Given the description of an element on the screen output the (x, y) to click on. 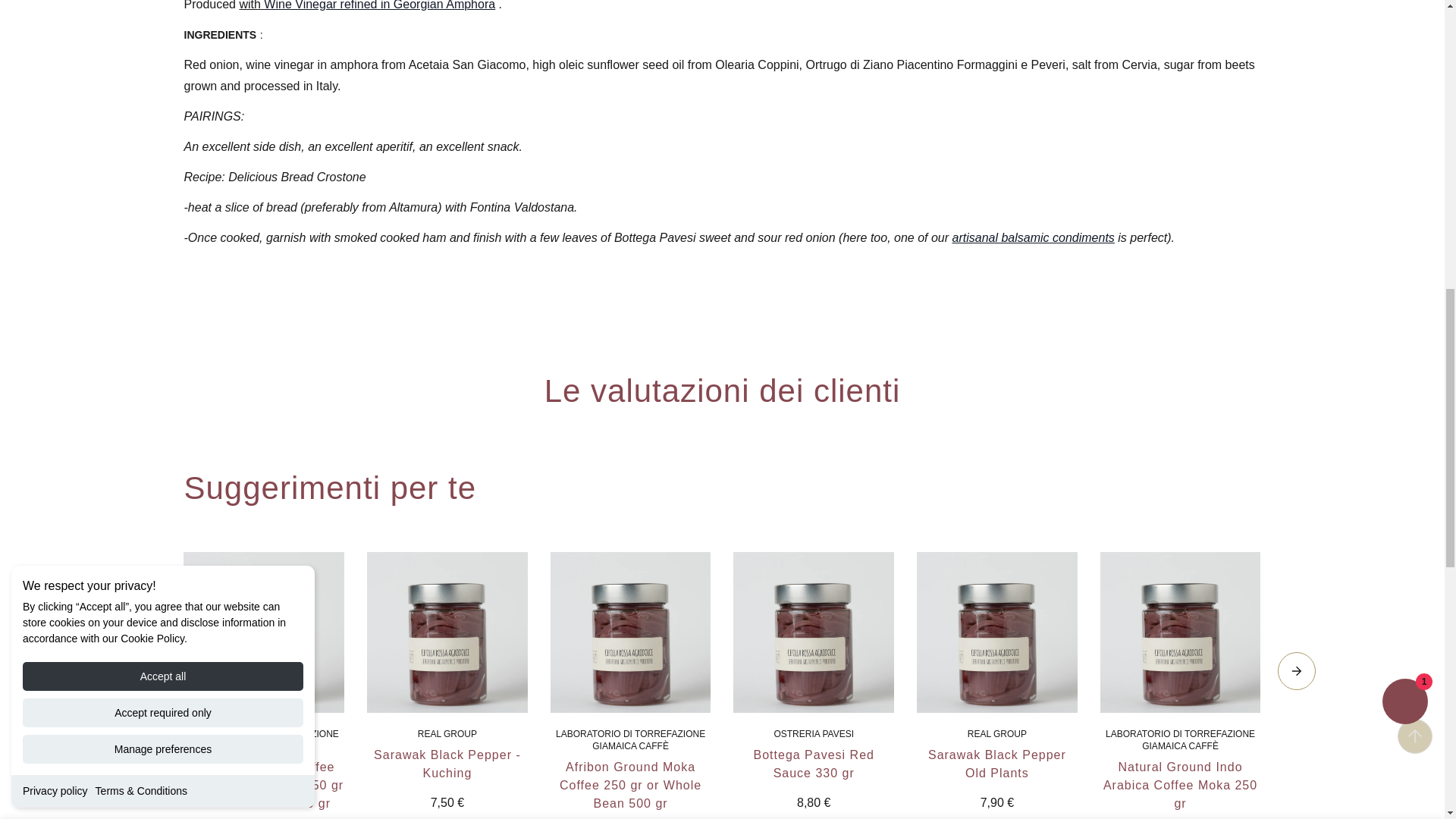
1 (1012, 26)
